Given the description of an element on the screen output the (x, y) to click on. 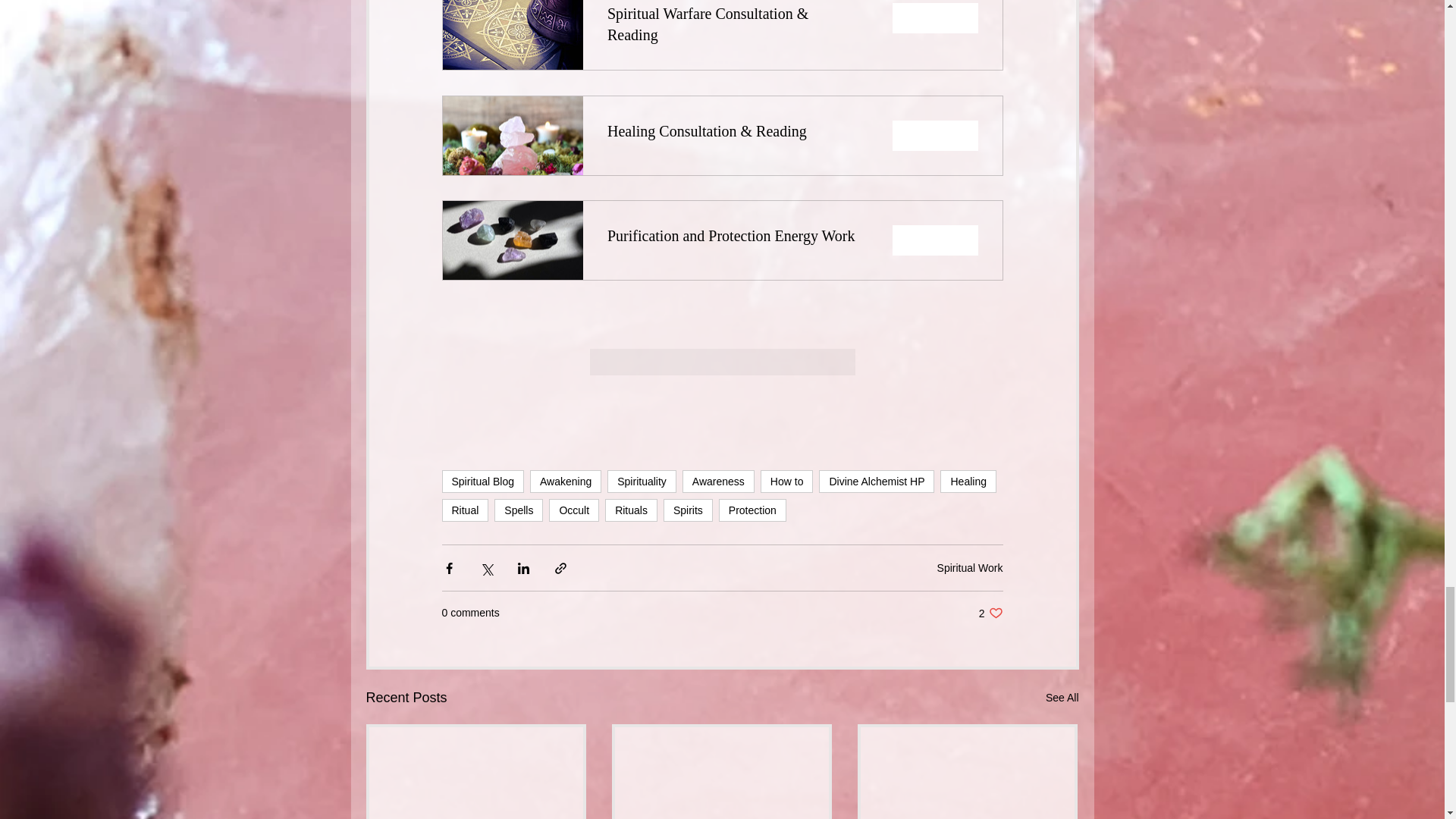
Spiritual Blog (482, 481)
Awakening (565, 481)
